Given the description of an element on the screen output the (x, y) to click on. 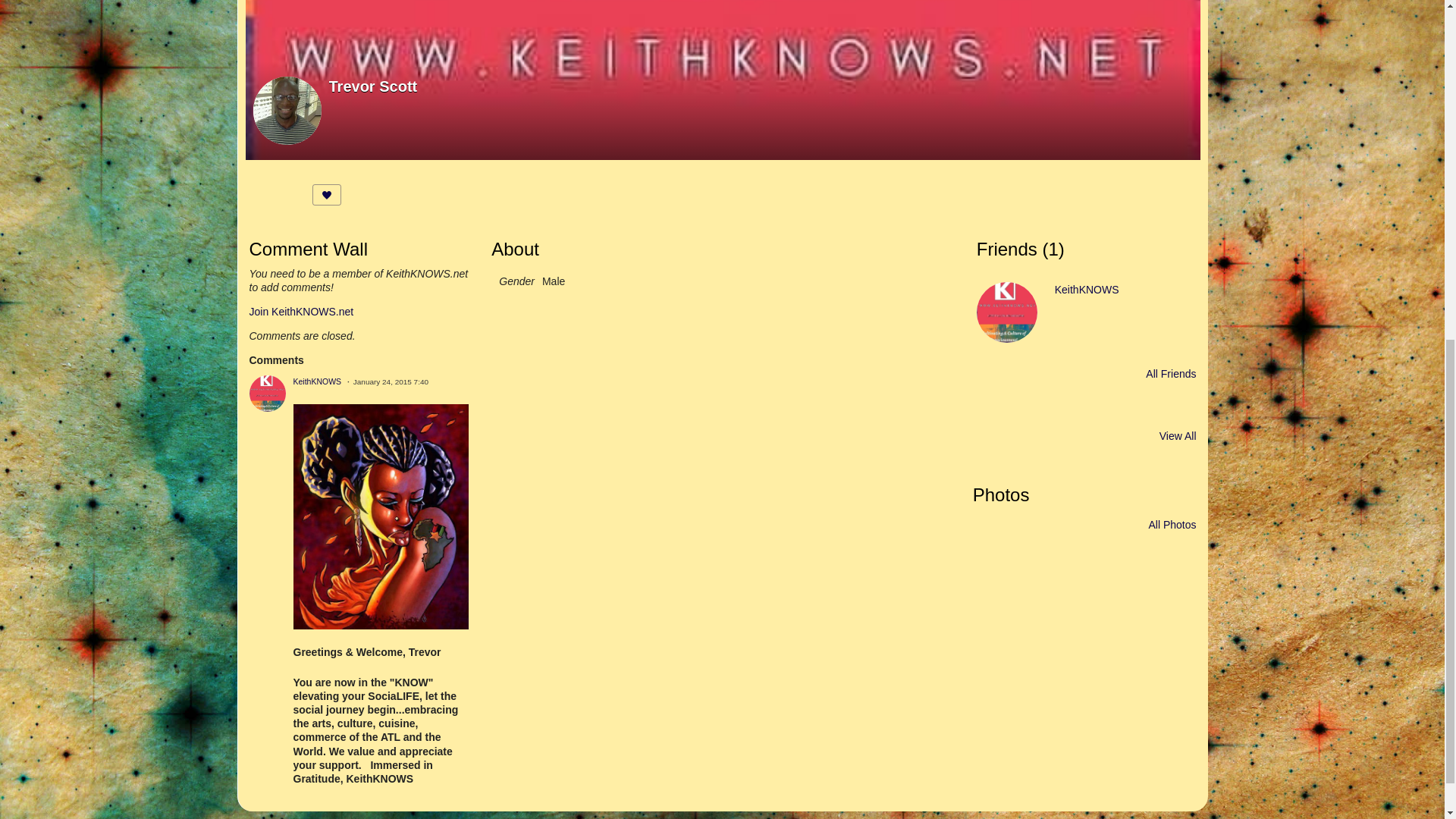
All Photos (1171, 524)
Photos (1000, 494)
Like (326, 194)
View All (1177, 435)
Join KeithKNOWS.net (300, 311)
All Friends (1170, 373)
KeithKNOWS (316, 380)
KeithKNOWS (1086, 289)
